Given the description of an element on the screen output the (x, y) to click on. 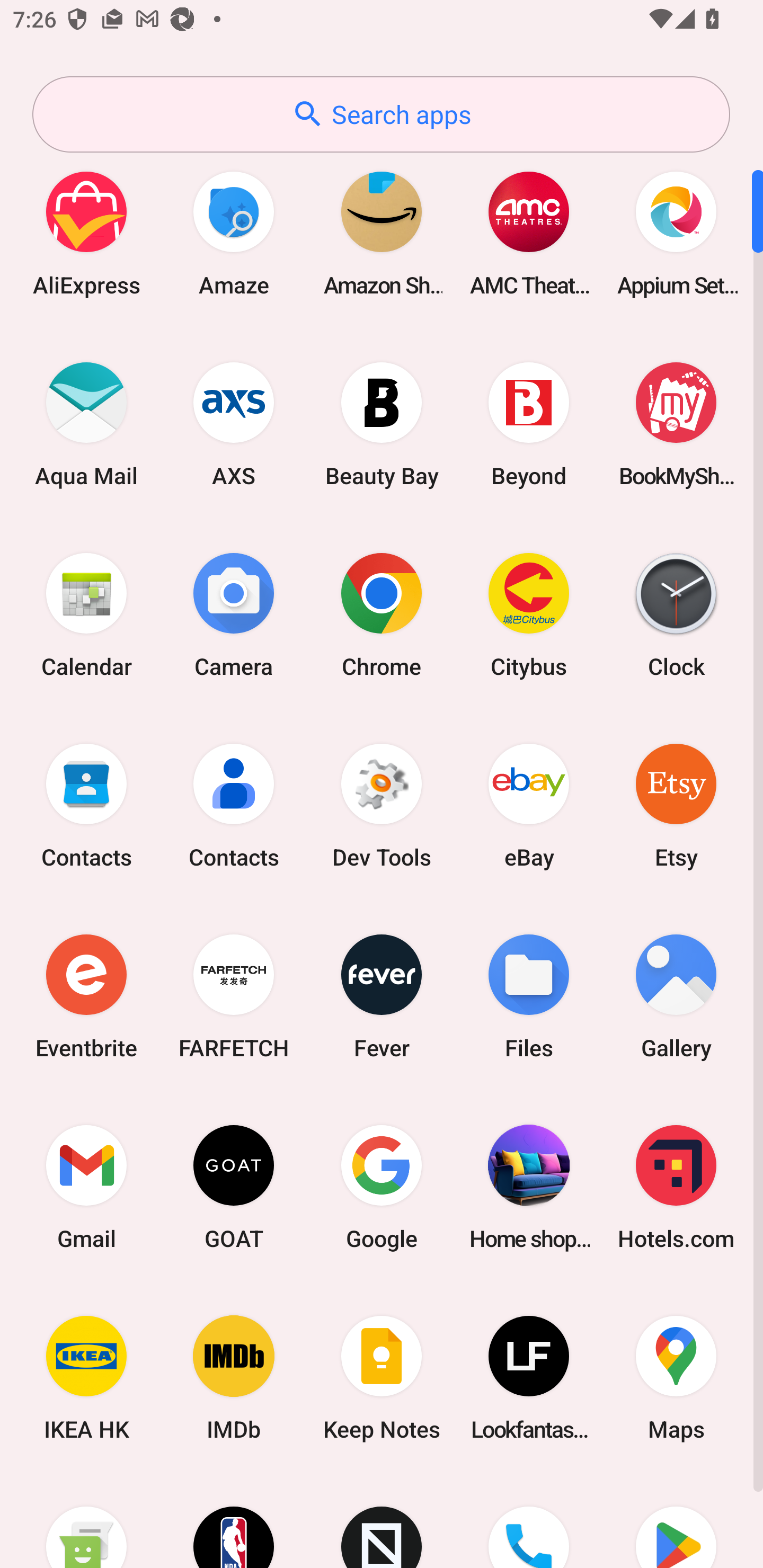
  Search apps (381, 114)
AliExpress (86, 233)
Amaze (233, 233)
Amazon Shopping (381, 233)
AMC Theatres (528, 233)
Appium Settings (676, 233)
Aqua Mail (86, 424)
AXS (233, 424)
Beauty Bay (381, 424)
Beyond (528, 424)
BookMyShow (676, 424)
Calendar (86, 614)
Camera (233, 614)
Chrome (381, 614)
Citybus (528, 614)
Clock (676, 614)
Contacts (86, 805)
Contacts (233, 805)
Dev Tools (381, 805)
eBay (528, 805)
Etsy (676, 805)
Eventbrite (86, 996)
FARFETCH (233, 996)
Fever (381, 996)
Files (528, 996)
Gallery (676, 996)
Gmail (86, 1186)
GOAT (233, 1186)
Google (381, 1186)
Home shopping (528, 1186)
Hotels.com (676, 1186)
IKEA HK (86, 1377)
IMDb (233, 1377)
Keep Notes (381, 1377)
Lookfantastic (528, 1377)
Maps (676, 1377)
Messaging (86, 1520)
NBA (233, 1520)
Novelship (381, 1520)
Phone (528, 1520)
Play Store (676, 1520)
